Given the description of an element on the screen output the (x, y) to click on. 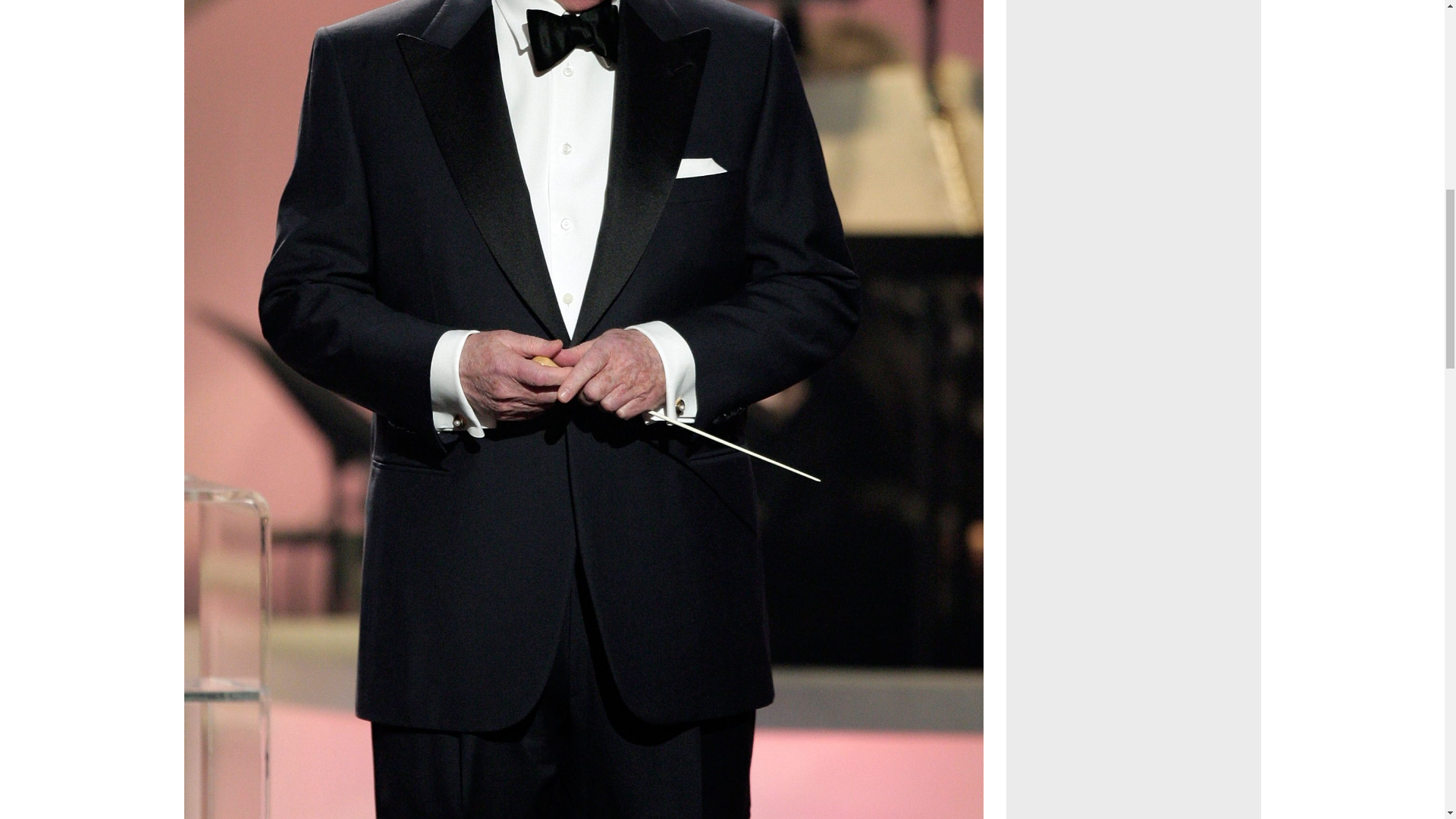
Advertisement (1134, 111)
